Given the description of an element on the screen output the (x, y) to click on. 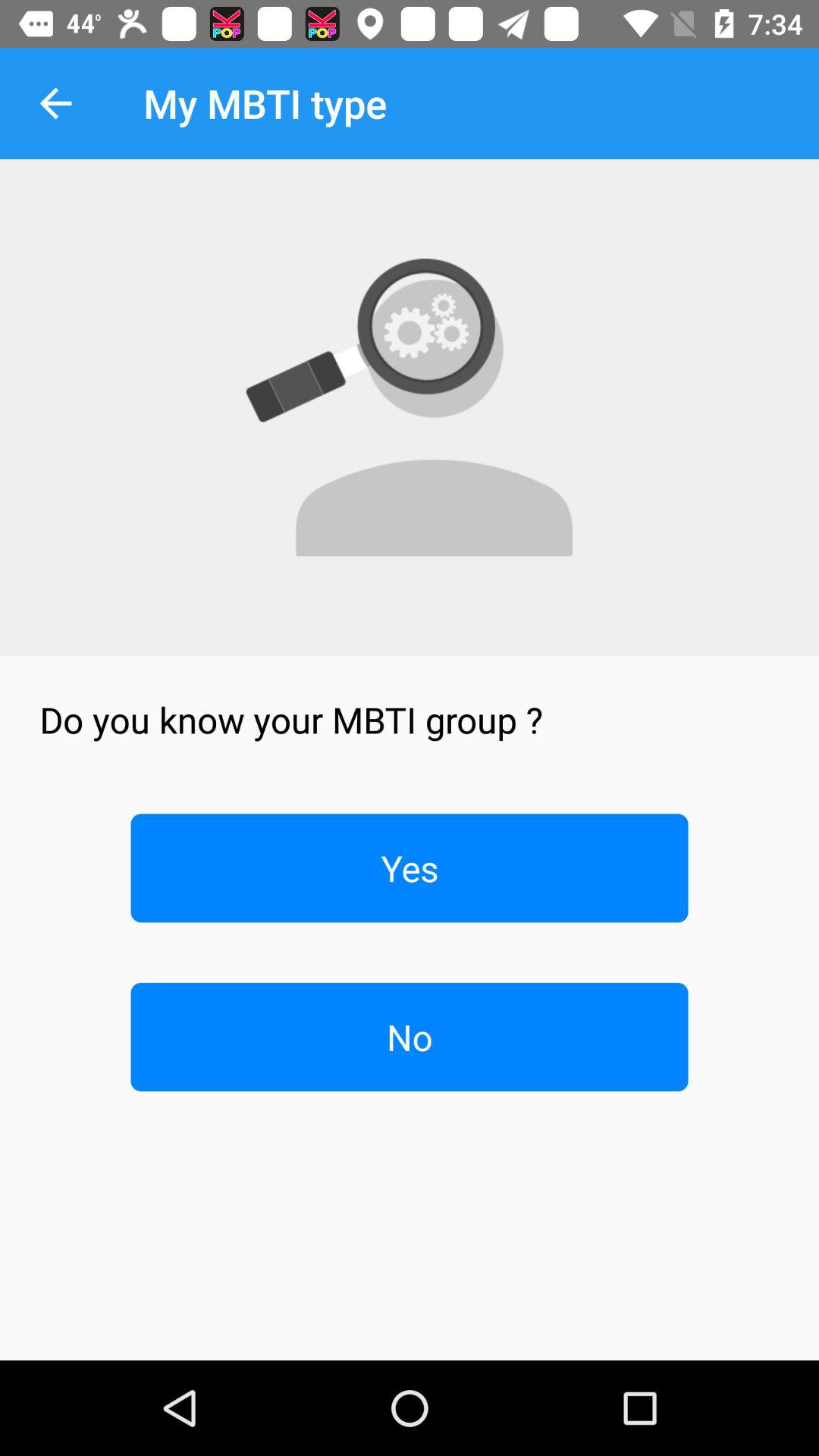
tap the item to the left of my mbti type item (55, 103)
